Given the description of an element on the screen output the (x, y) to click on. 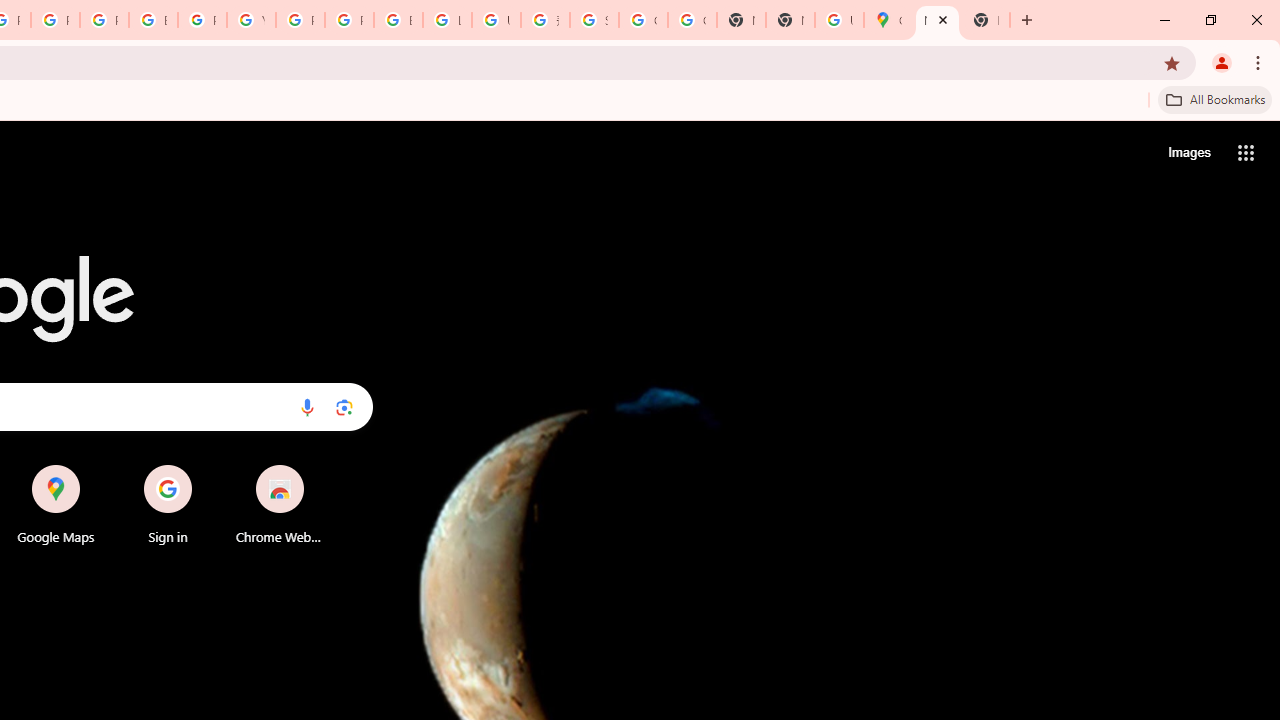
Privacy Help Center - Policies Help (104, 20)
Google Maps (56, 504)
Chrome Web Store (279, 504)
Use Google Maps in Space - Google Maps Help (839, 20)
New Tab (985, 20)
